Given the description of an element on the screen output the (x, y) to click on. 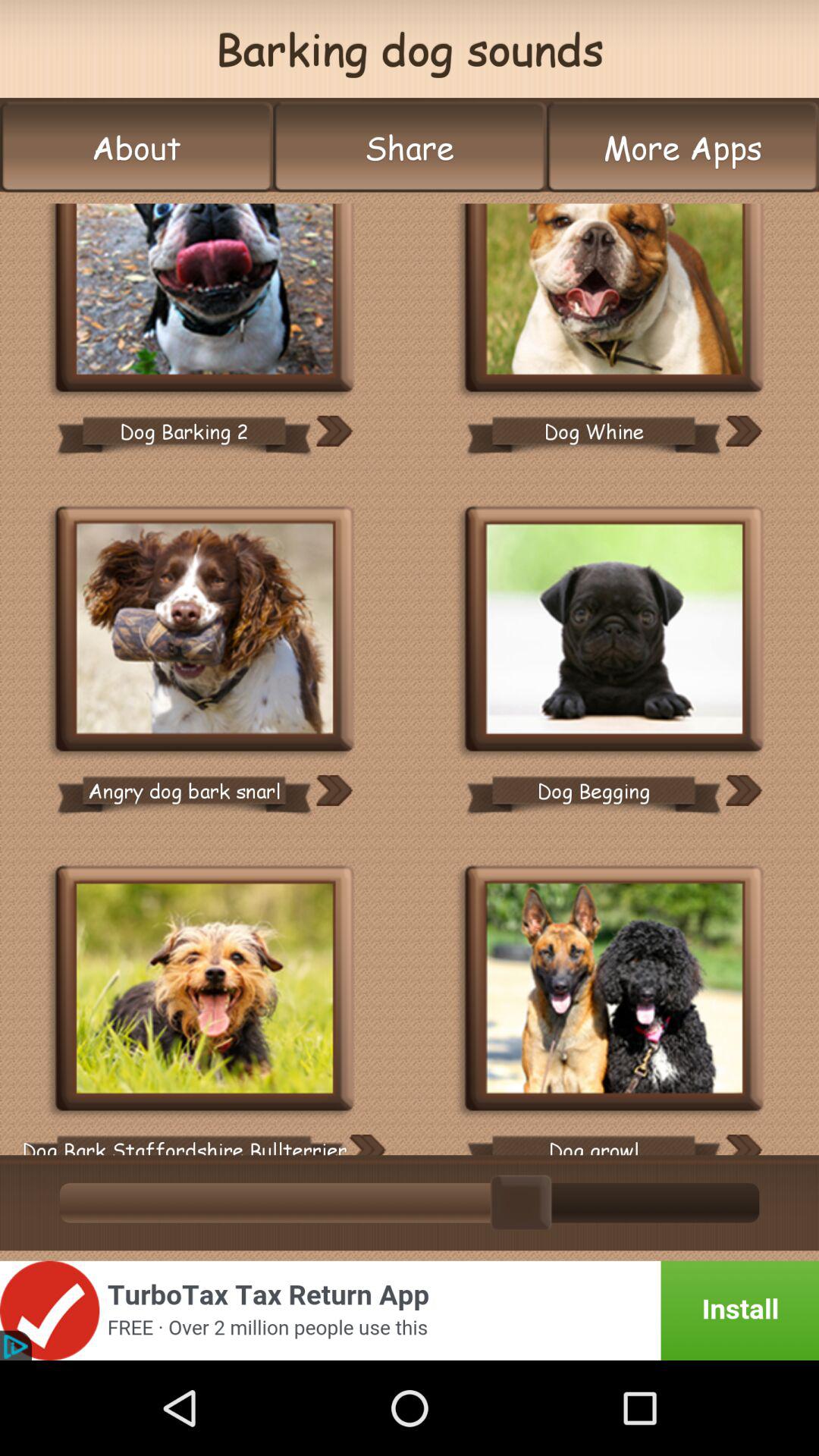
toggle image option (204, 630)
